Given the description of an element on the screen output the (x, y) to click on. 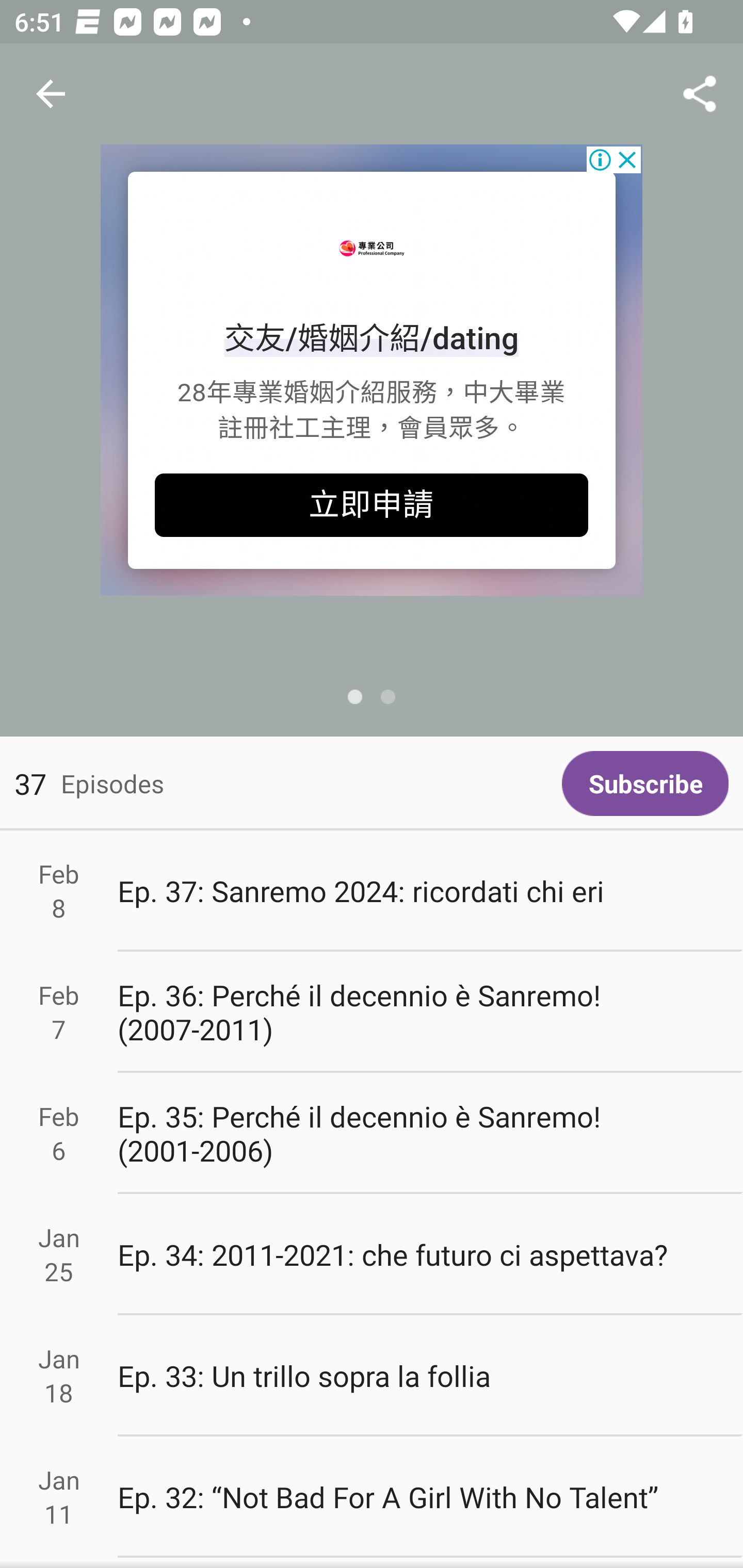
Navigate up (50, 93)
Share... (699, 93)
交友/婚姻介紹/dating (371, 338)
立即申請 (371, 505)
Subscribe (644, 783)
Feb 8 Ep. 37: Sanremo 2024: ricordati chi eri (371, 891)
Jan 25 Ep. 34: 2011-2021: che futuro ci aspettava? (371, 1254)
Jan 18 Ep. 33: Un trillo sopra la follia (371, 1375)
Jan 11 Ep. 32: “Not Bad For A Girl With No Talent” (371, 1496)
